Given the description of an element on the screen output the (x, y) to click on. 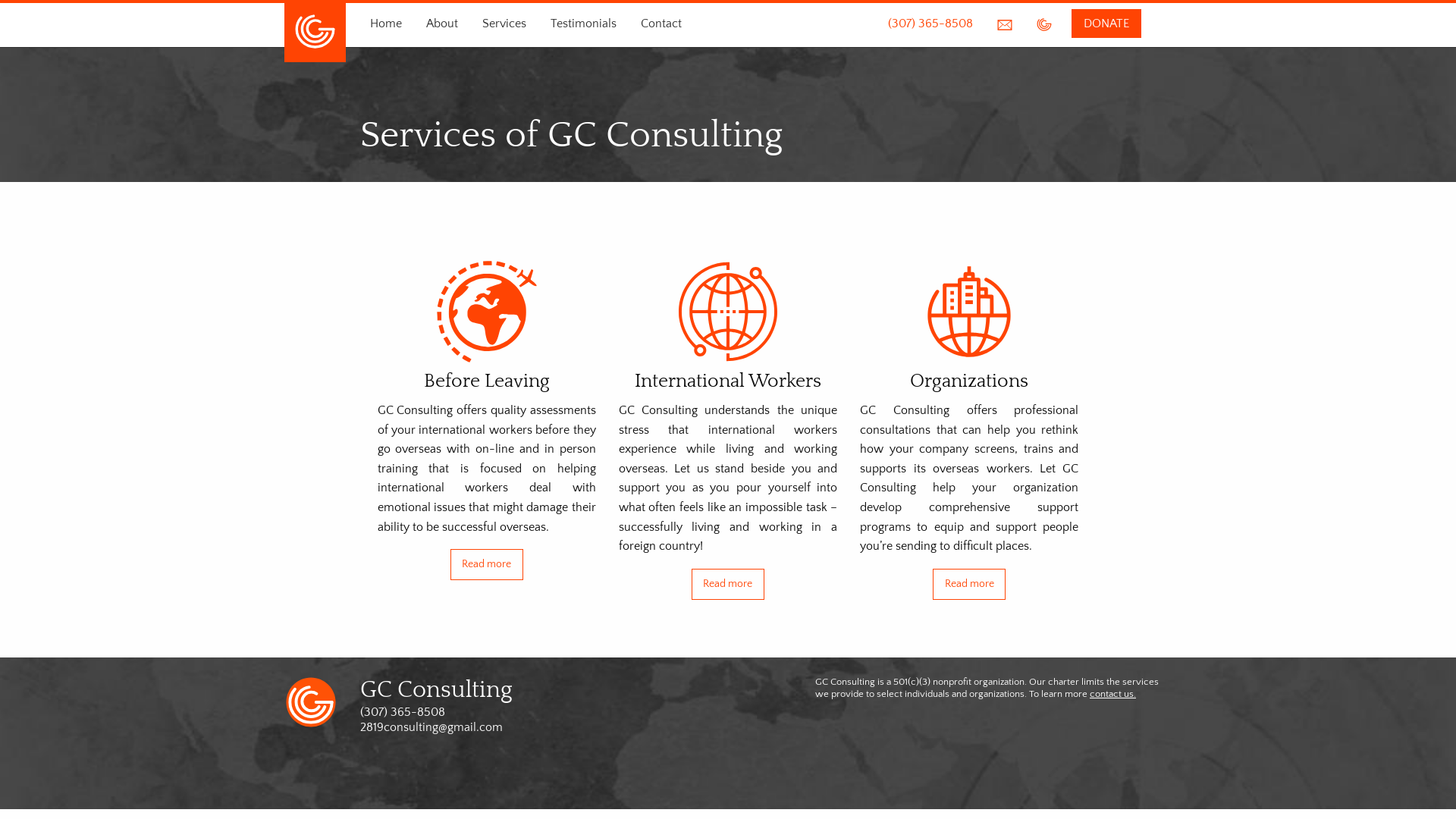
Contact Element type: text (660, 23)
Testimonials Element type: text (583, 23)
(307) 365-8508 Element type: text (402, 711)
About Element type: text (442, 23)
Read more Element type: text (486, 564)
(307) 365-8508 Element type: text (930, 23)
Read more Element type: text (968, 583)
Home Element type: text (385, 23)
2819consulting@gmail.com Element type: text (431, 727)
Services Element type: text (504, 23)
contact us. Element type: text (1112, 693)
DONATE Element type: text (1106, 23)
Read more Element type: text (727, 583)
